Given the description of an element on the screen output the (x, y) to click on. 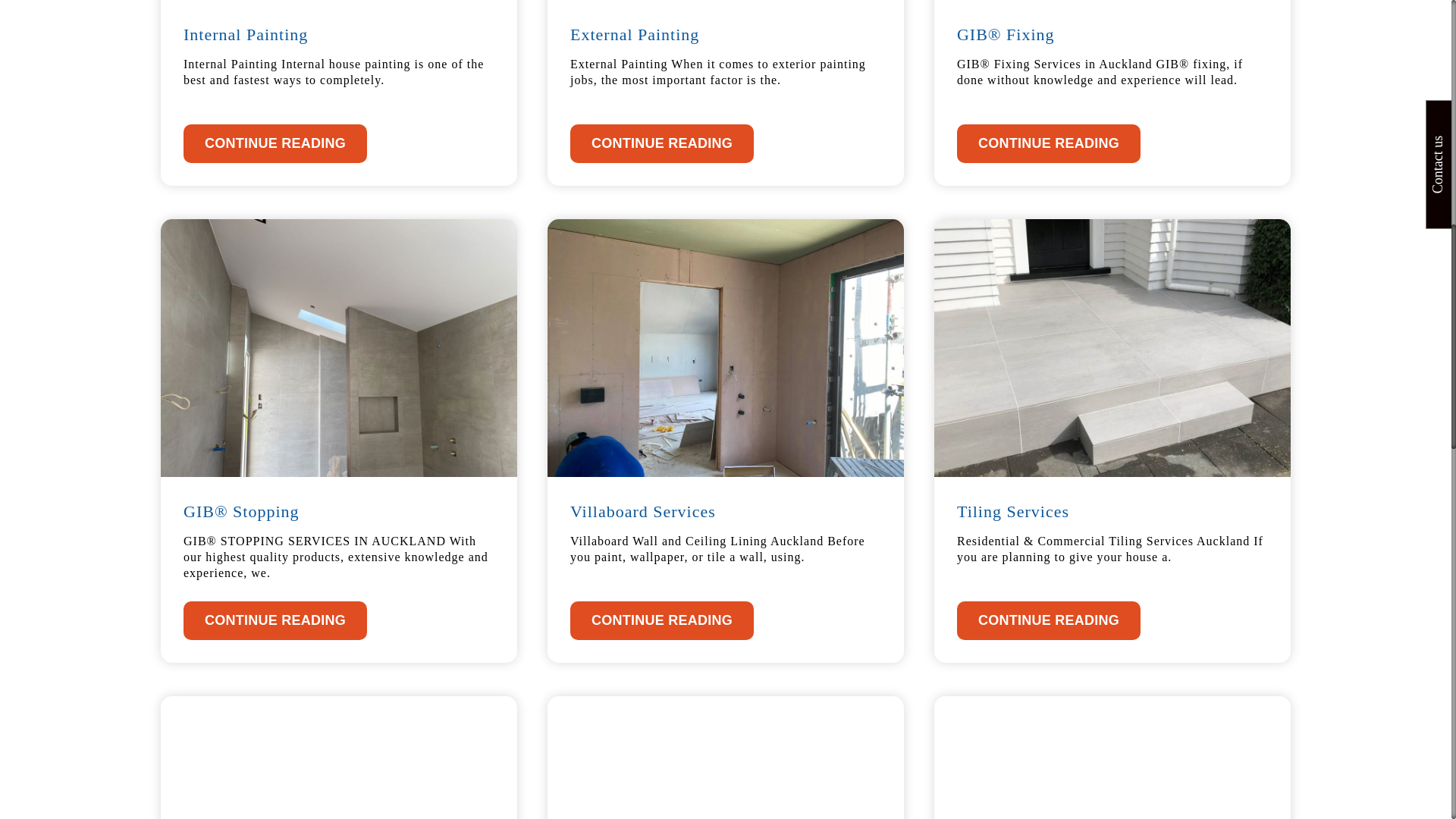
CONTINUE READING (662, 143)
External Painting (634, 34)
CONTINUE READING (274, 143)
Internal Painting (245, 34)
